Given the description of an element on the screen output the (x, y) to click on. 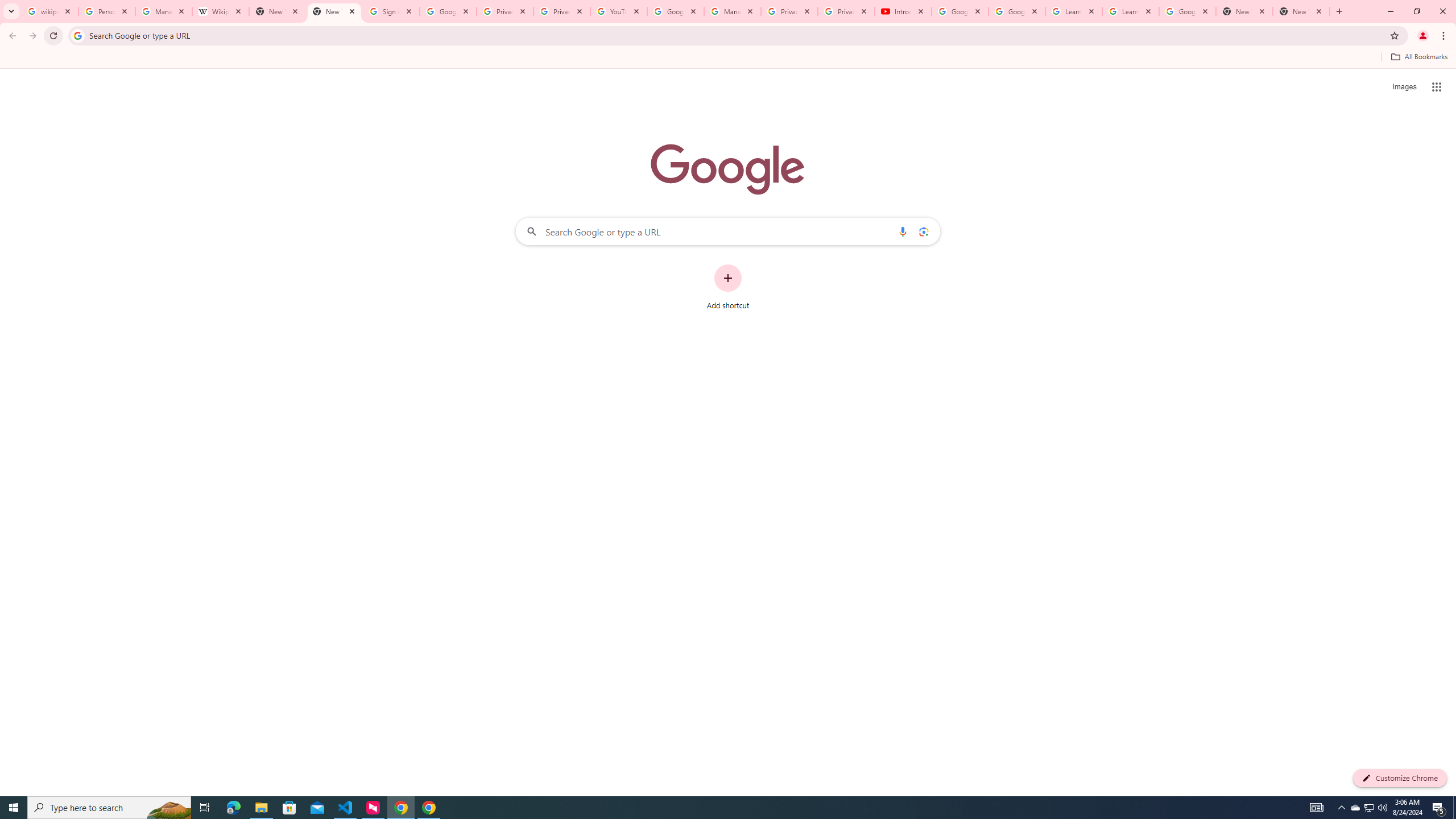
Add shortcut (727, 287)
Personalization & Google Search results - Google Search Help (105, 11)
Sign in - Google Accounts (391, 11)
YouTube (618, 11)
All Bookmarks (1418, 56)
Google Drive: Sign-in (447, 11)
Customize Chrome (1399, 778)
